Given the description of an element on the screen output the (x, y) to click on. 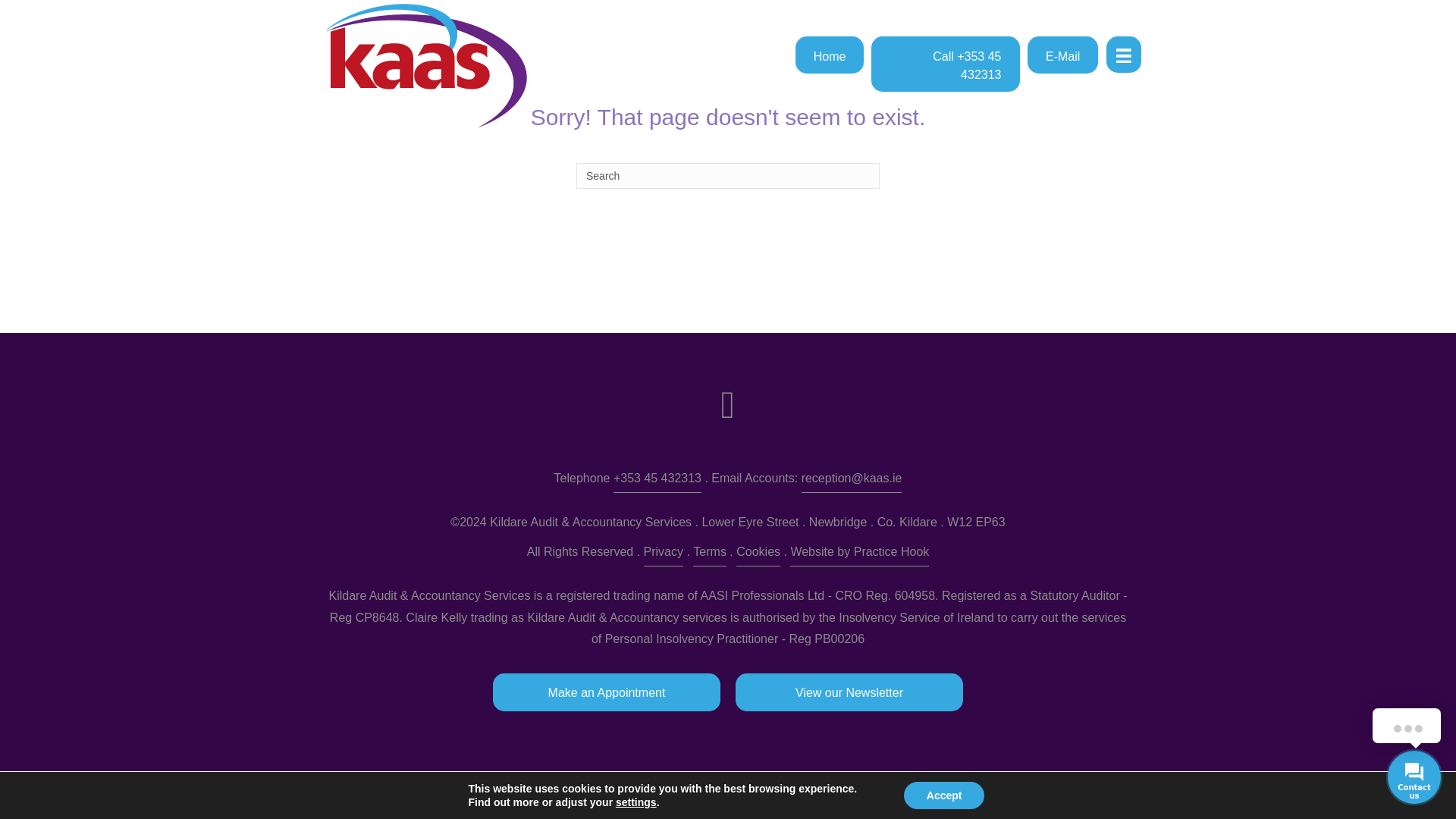
Make an Appointment (606, 692)
Search (727, 175)
Search (727, 175)
Home (829, 54)
Privacy (662, 553)
E-Mail (1062, 54)
Terms (709, 553)
Type and press Enter to search. (727, 175)
kaas-accountants-logo-1a (426, 65)
Cookies (758, 553)
